Given the description of an element on the screen output the (x, y) to click on. 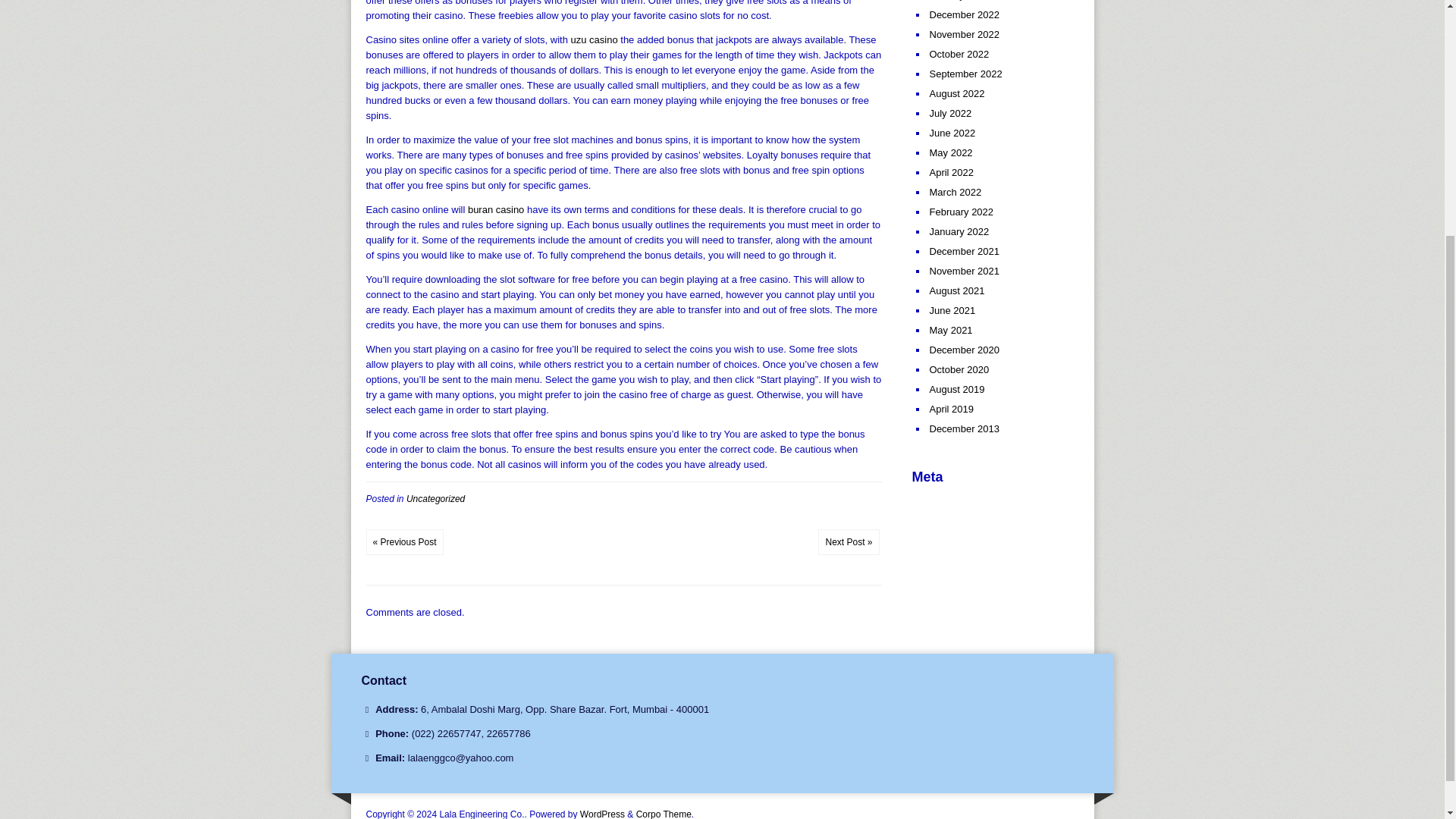
Uncategorized (435, 498)
November 2021 (965, 270)
May 2022 (951, 152)
August 2021 (957, 290)
March 2022 (955, 192)
April 2022 (952, 172)
January 2023 (960, 0)
December 2020 (965, 349)
June 2021 (952, 310)
September 2022 (966, 73)
